Given the description of an element on the screen output the (x, y) to click on. 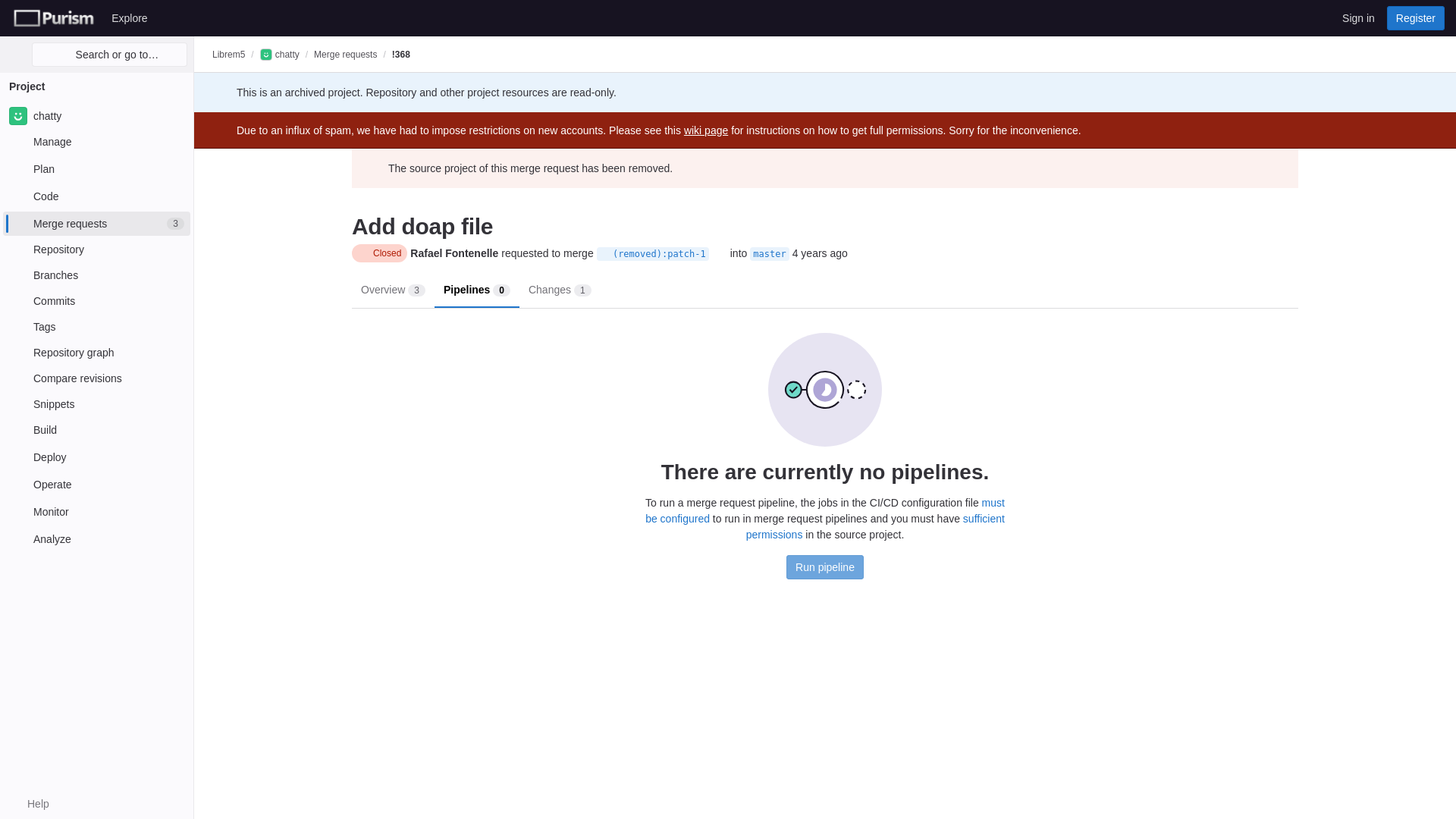
Explore (128, 17)
The source project is a fork (604, 253)
Homepage (53, 17)
Register (1415, 17)
Plan (96, 168)
Deploy (96, 457)
Branches (96, 223)
chatty (96, 274)
Code (96, 115)
Tags (96, 196)
Repository (96, 326)
Build (96, 249)
Compare revisions (96, 429)
Commits (96, 378)
